Given the description of an element on the screen output the (x, y) to click on. 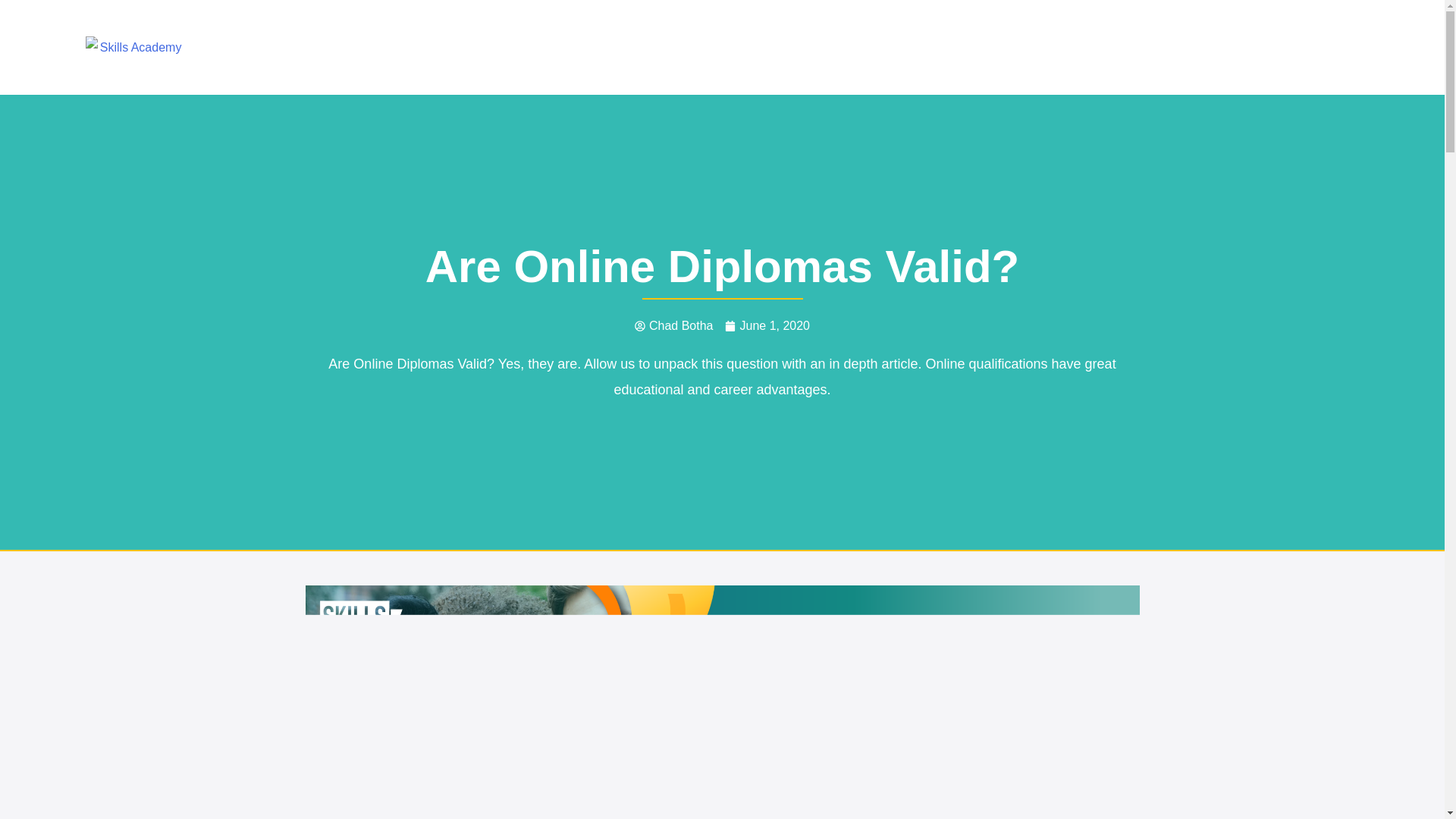
Skills Academy (134, 47)
